Given the description of an element on the screen output the (x, y) to click on. 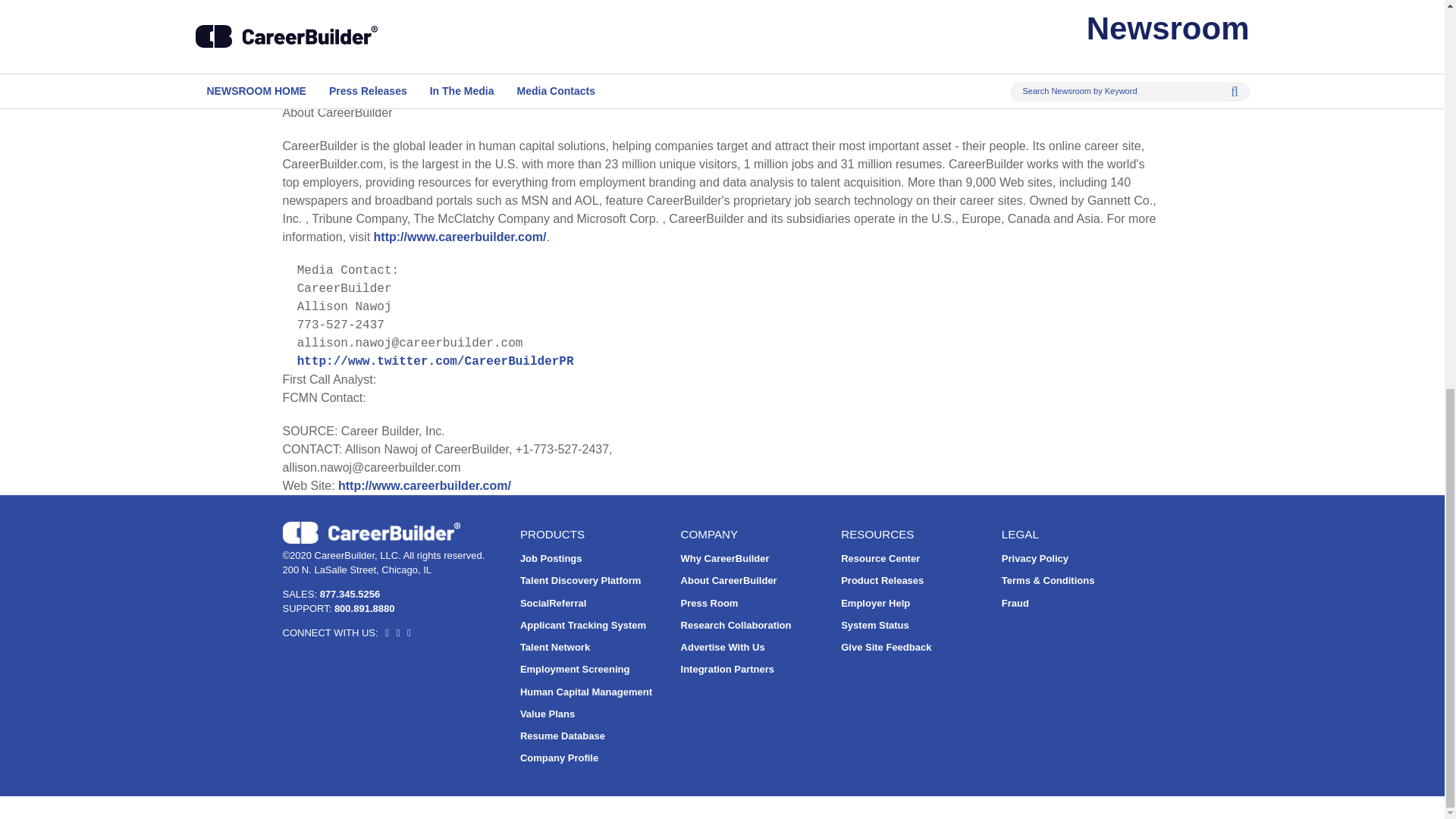
Company Profile (558, 757)
800.891.8880 (364, 608)
Applicant Tracking System (582, 624)
Job Postings (550, 558)
Employment Screening (573, 668)
SocialReferral (552, 603)
Why CareerBuilder (725, 558)
Talent Network (554, 646)
877.345.5256 (350, 593)
About CareerBuilder (729, 580)
Human Capital Management (585, 691)
Value Plans (547, 713)
Talent Discovery Platform (579, 580)
Resume Database (562, 736)
